Given the description of an element on the screen output the (x, y) to click on. 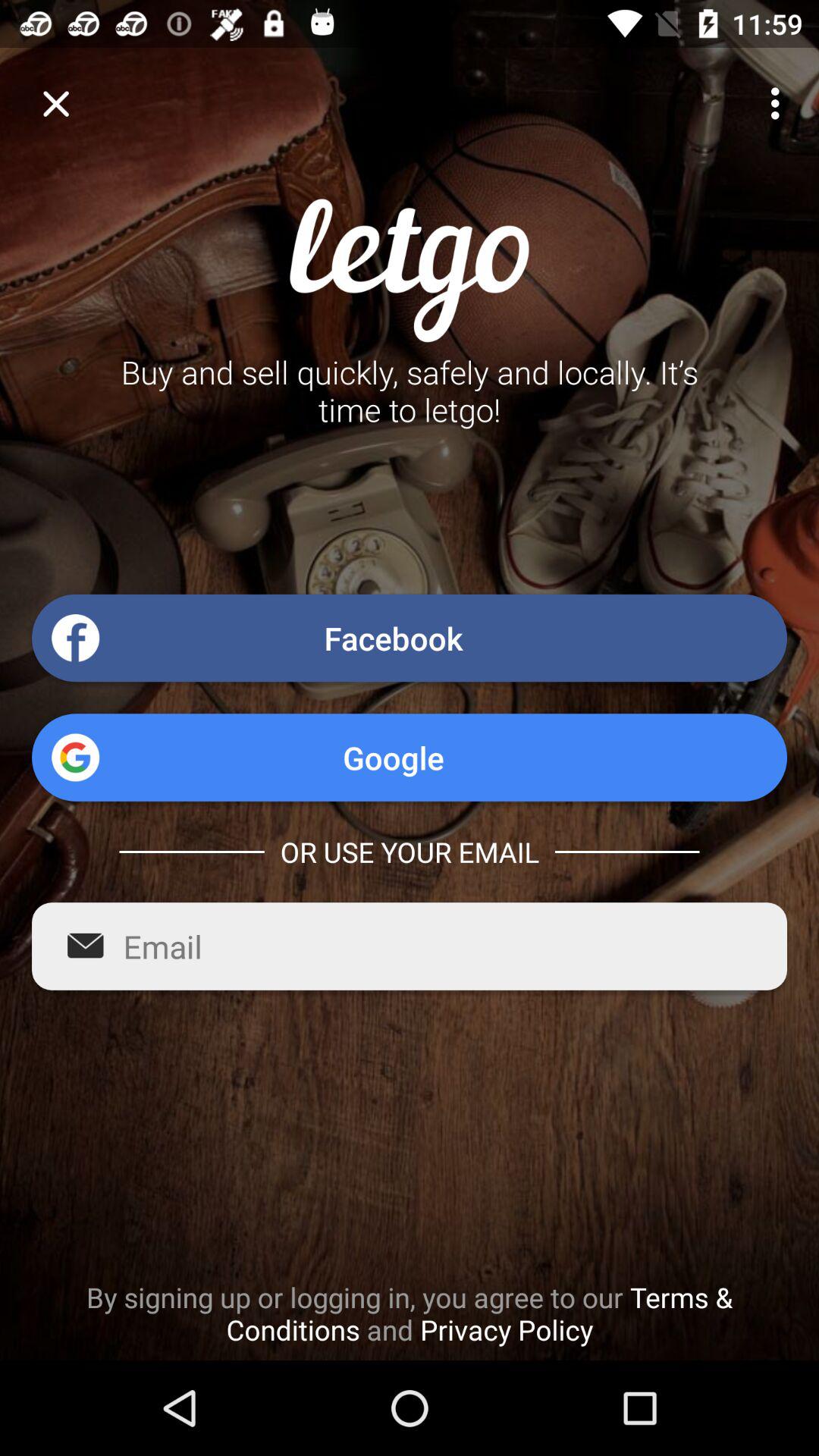
close page x (55, 103)
